Given the description of an element on the screen output the (x, y) to click on. 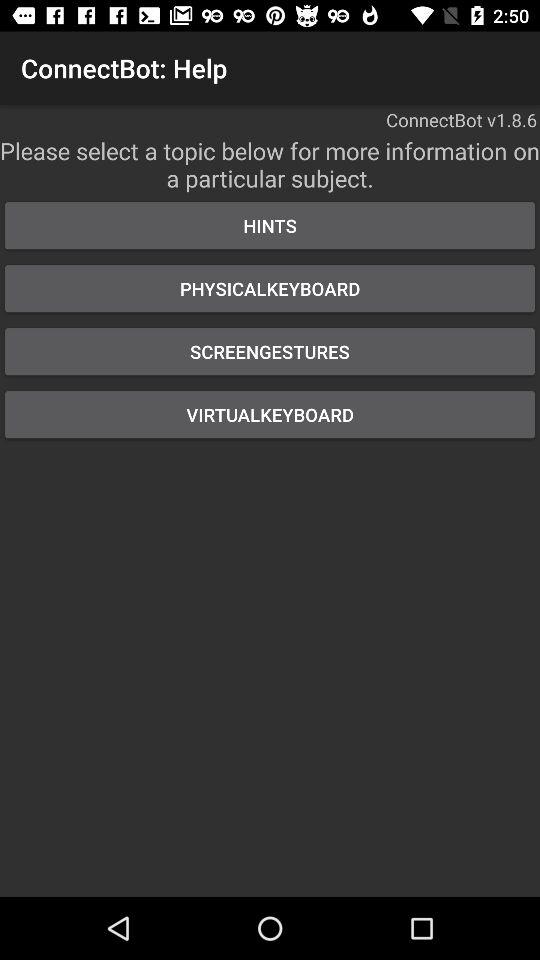
choose hints button (270, 225)
